Given the description of an element on the screen output the (x, y) to click on. 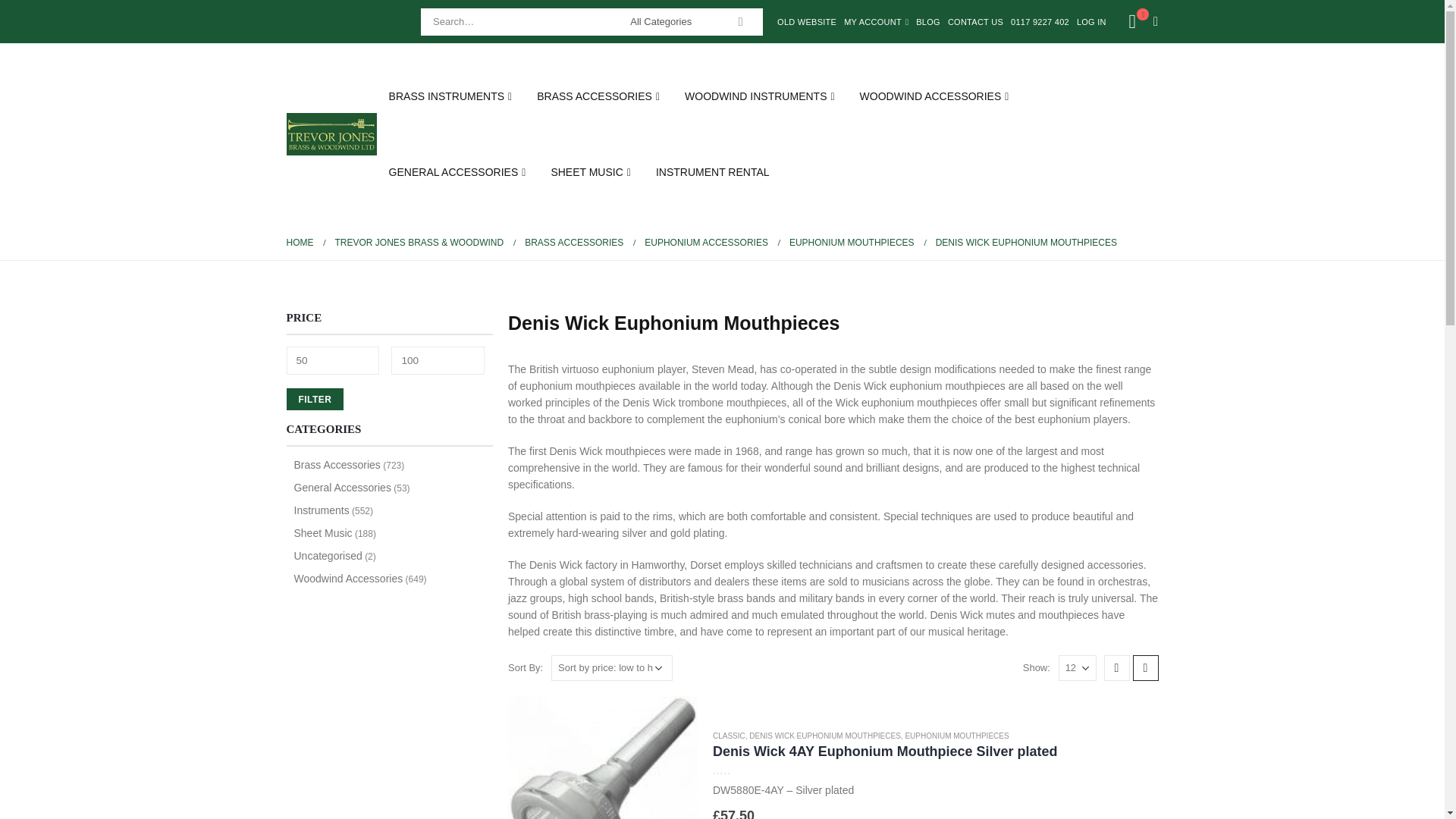
0117 9227 402 (1040, 21)
MY ACCOUNT (876, 21)
EUPHONIUM ACCESSORIES (706, 242)
Grid View (1116, 667)
EUPHONIUM MOUTHPIECES (851, 242)
0 (737, 769)
GENERAL ACCESSORIES (457, 171)
OLD WEBSITE (806, 21)
EUPHONIUM MOUTHPIECES (956, 736)
